Given the description of an element on the screen output the (x, y) to click on. 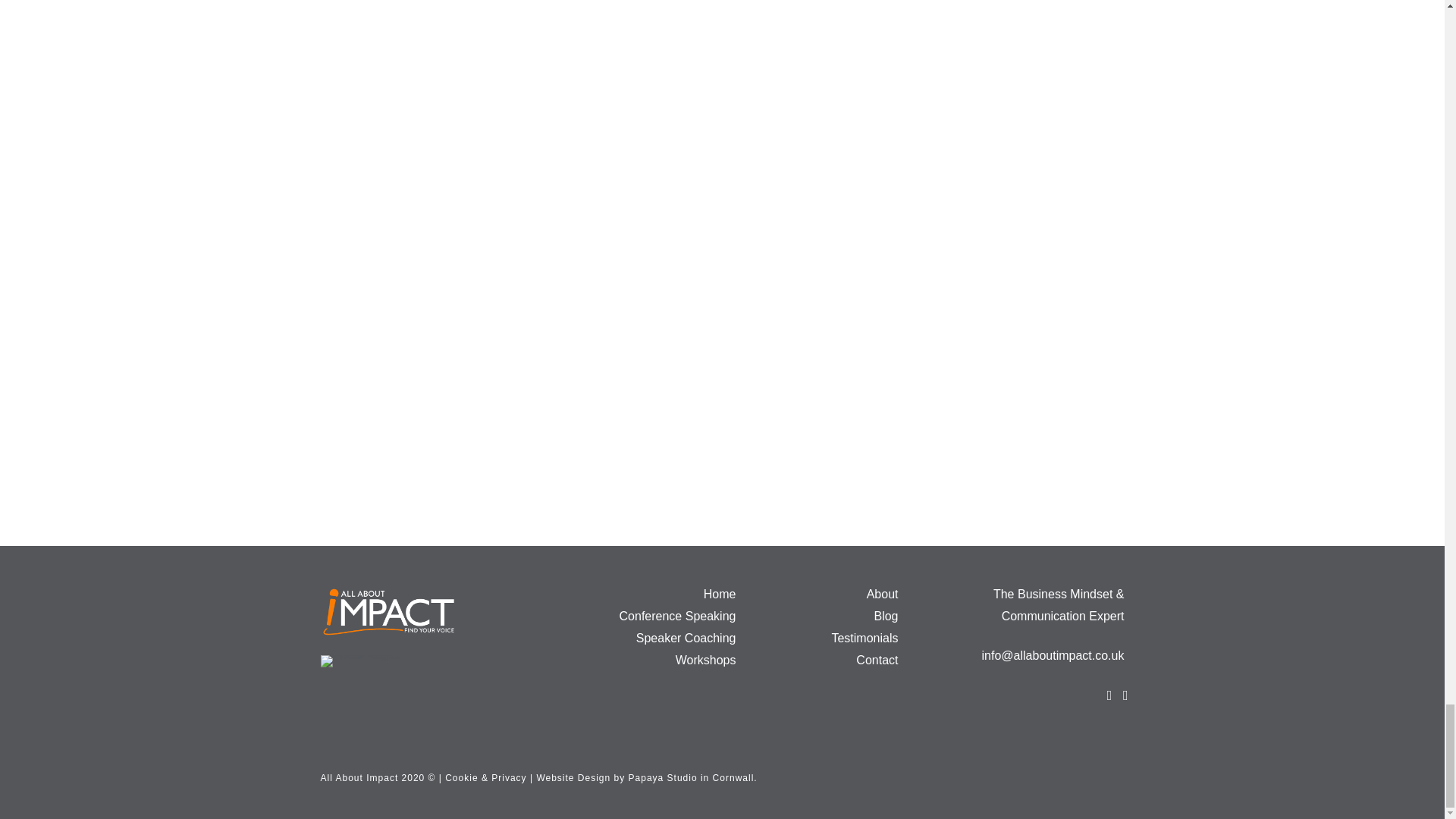
Conference Speaking (678, 615)
About (882, 594)
Workshops (705, 659)
Blog (885, 615)
Speaker Coaching (686, 637)
Privacy (508, 777)
Papaya Studio (662, 777)
Website Design (572, 777)
Home (719, 594)
Cookie (461, 777)
